Given the description of an element on the screen output the (x, y) to click on. 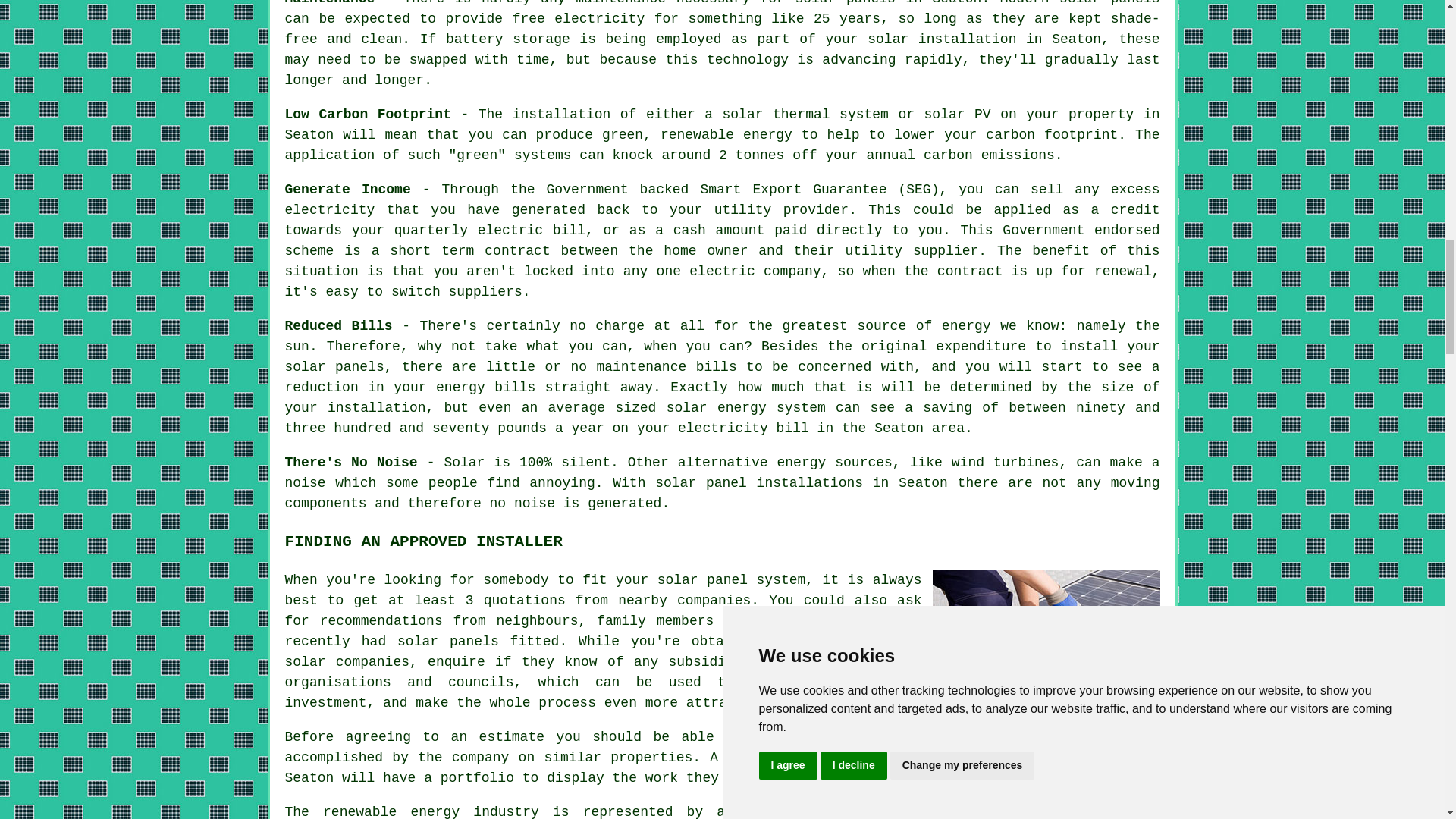
Seaton Solar Panel Installers Near (1046, 644)
